Given the description of an element on the screen output the (x, y) to click on. 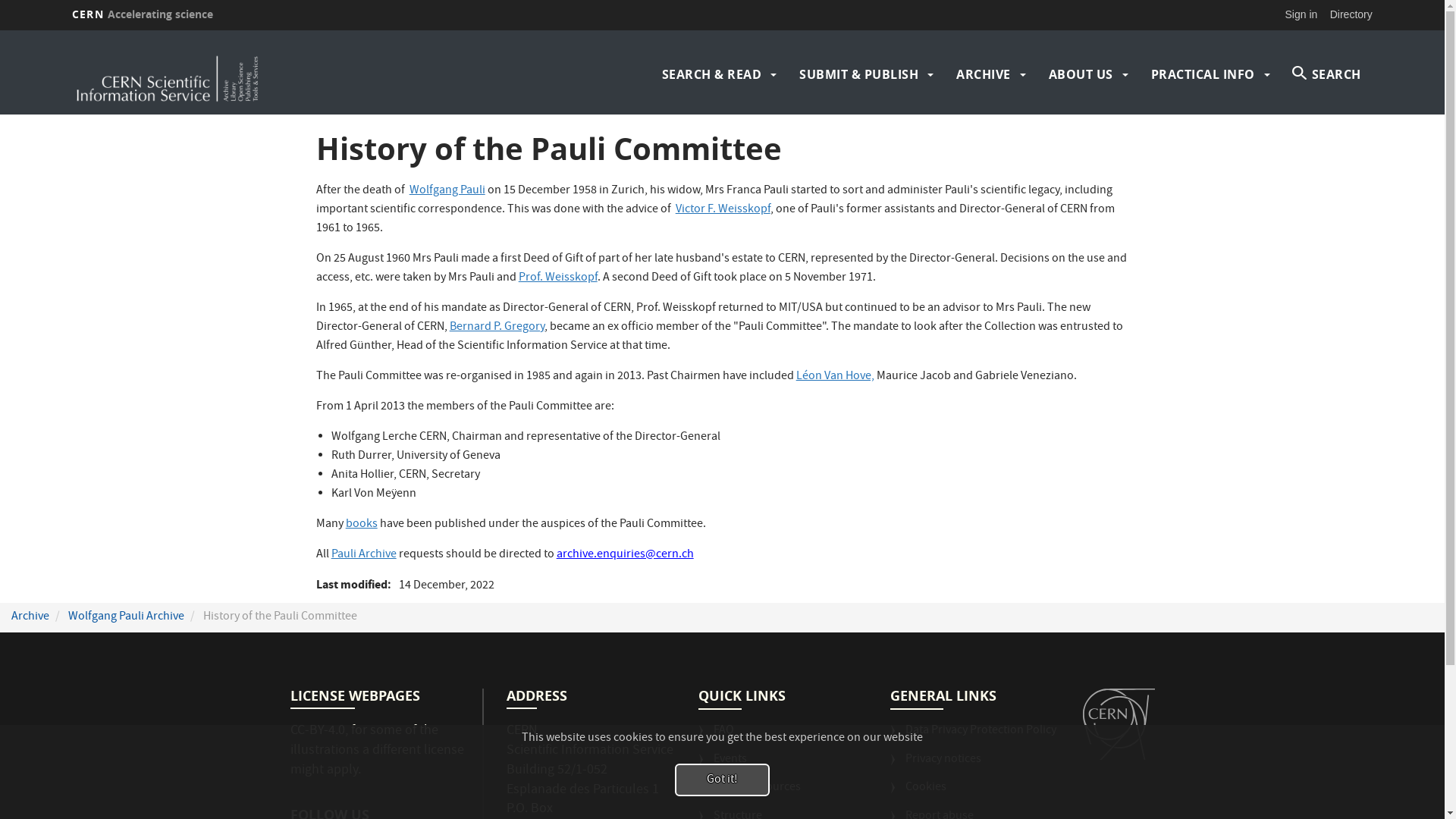
books Element type: text (361, 524)
Bernard P. Gregory Element type: text (496, 327)
CERN Accelerating science Element type: text (142, 14)
SUBMIT & PUBLISH Element type: text (858, 74)
Cookies Element type: text (918, 793)
Wolfgang Pauli Element type: text (447, 191)
ABOUT US Element type: text (1080, 74)
Archive Element type: text (30, 617)
Skip to main content Element type: text (0, 30)
ARCHIVE Element type: text (983, 74)
Sign in Element type: text (1301, 14)
Wolfgang Pauli Archive Element type: text (126, 617)
Data Privacy Protection Policy Element type: text (973, 736)
Prof. Weisskopf Element type: text (557, 278)
Directory Element type: text (1351, 14)
Got it! Element type: text (721, 779)
SEARCH & READ Element type: text (712, 74)
Privacy notices Element type: text (935, 765)
Victor F. Weisskopf Element type: text (722, 209)
CC-BY-4.0 Element type: text (316, 731)
SEARCH Element type: text (1326, 74)
FAQ Element type: text (716, 736)
Events Element type: text (722, 765)
Online resources Element type: text (749, 793)
CERN Element type: hover (1118, 723)
Pauli Archive Element type: text (363, 555)
Home Element type: hover (230, 74)
archive.enquiries@cern.ch Element type: text (624, 555)
PRACTICAL INFO Element type: text (1203, 74)
